Given the description of an element on the screen output the (x, y) to click on. 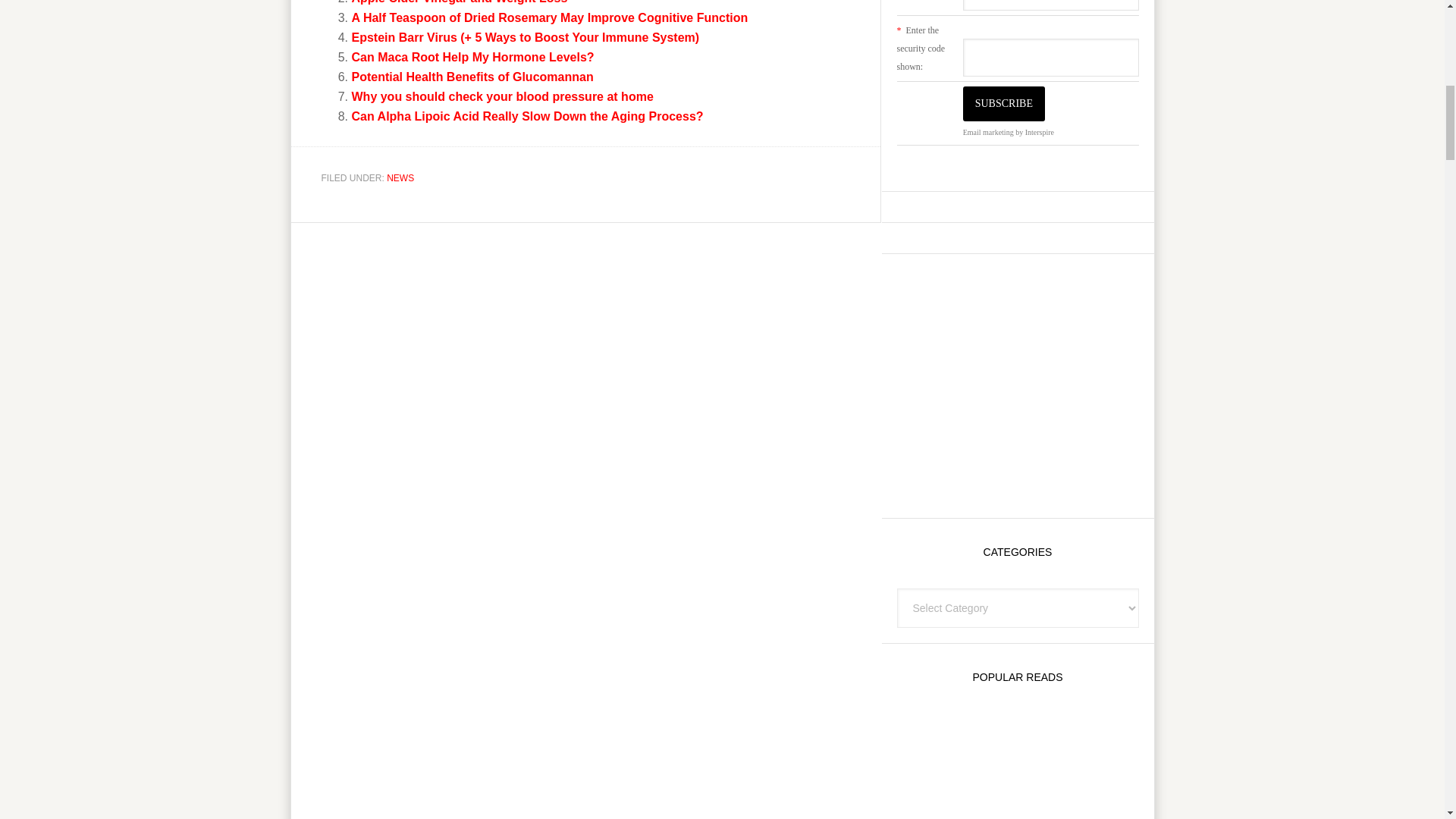
Why you should check your blood pressure at home (502, 96)
Why you should check your blood pressure at home (502, 96)
NEWS (400, 177)
Can Maca Root Help My Hormone Levels? (473, 56)
Potential Health Benefits of Glucomannan (473, 76)
Apple Cider Vinegar and Weight Loss (459, 2)
Can Alpha Lipoic Acid Really Slow Down the Aging Process? (527, 115)
Apple Cider Vinegar and Weight Loss (459, 2)
